Given the description of an element on the screen output the (x, y) to click on. 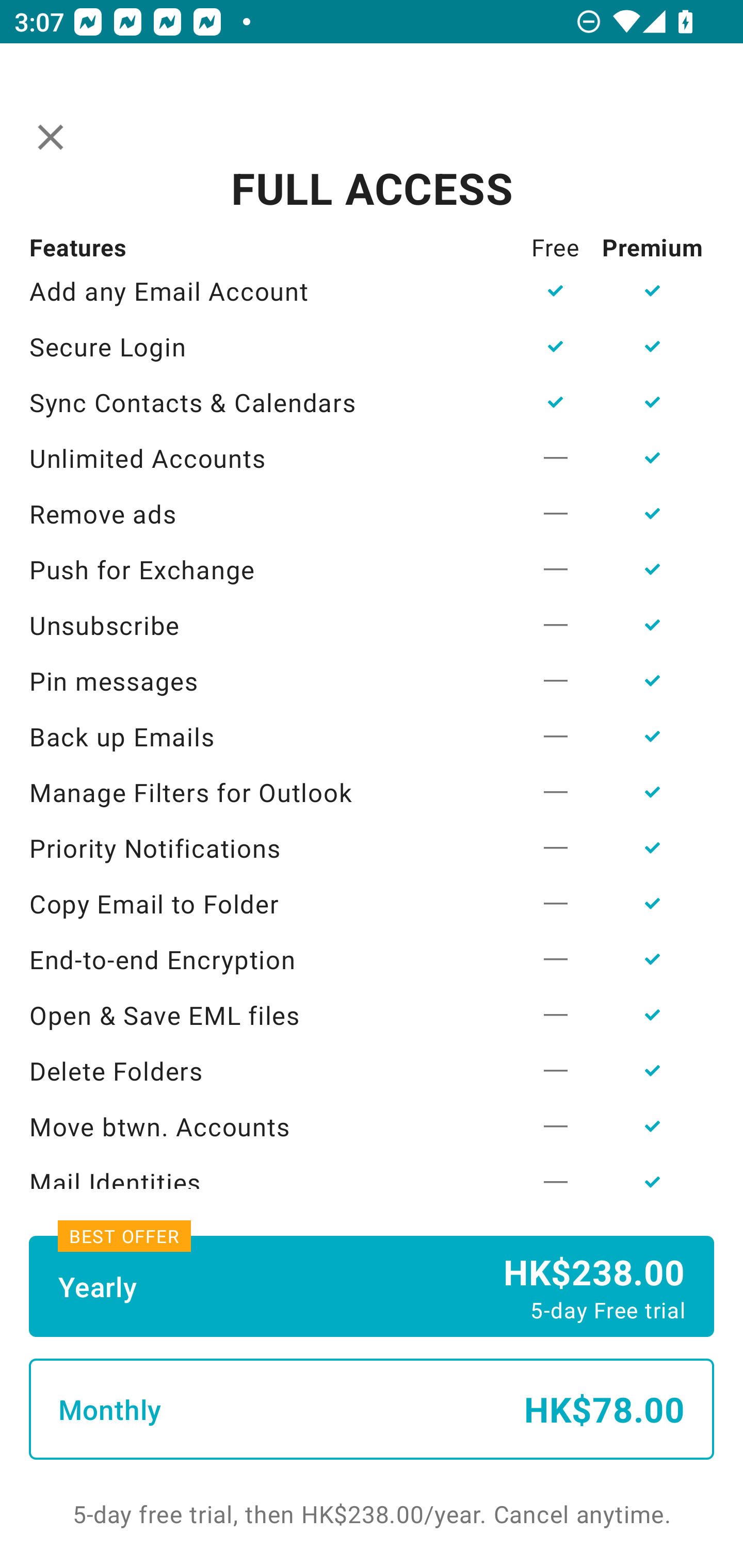
Yearly HK$238.00 5-day Free trial (371, 1286)
Monthly HK$78.00 (371, 1408)
